Given the description of an element on the screen output the (x, y) to click on. 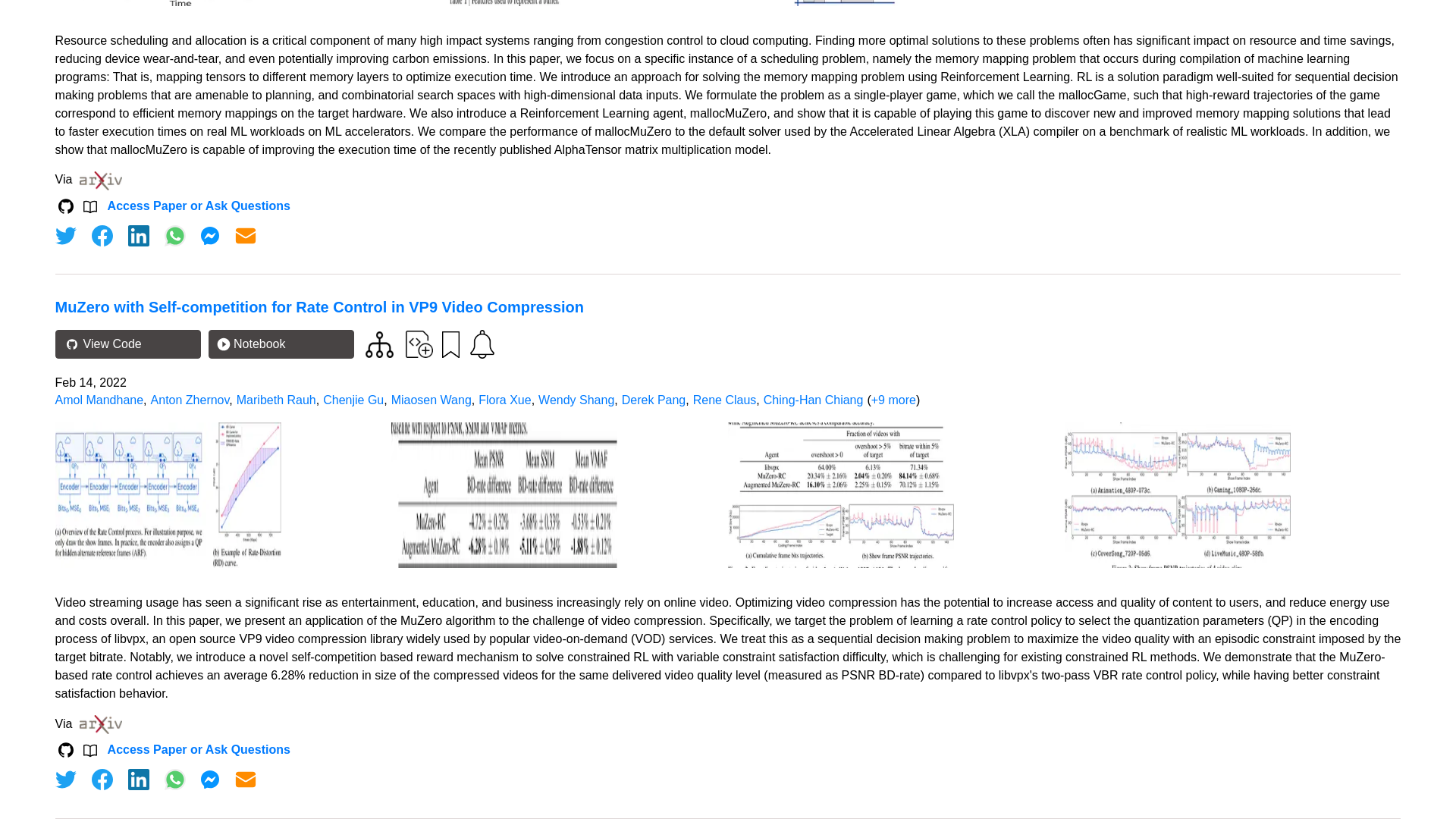
Share via Email (245, 235)
Contribute your code for this paper to the community (419, 343)
Share via Email (245, 779)
View Code (127, 344)
View code for similar papers (379, 344)
Access Paper or Ask Questions (198, 205)
Notebook (280, 344)
Amol Mandhane (99, 399)
